Given the description of an element on the screen output the (x, y) to click on. 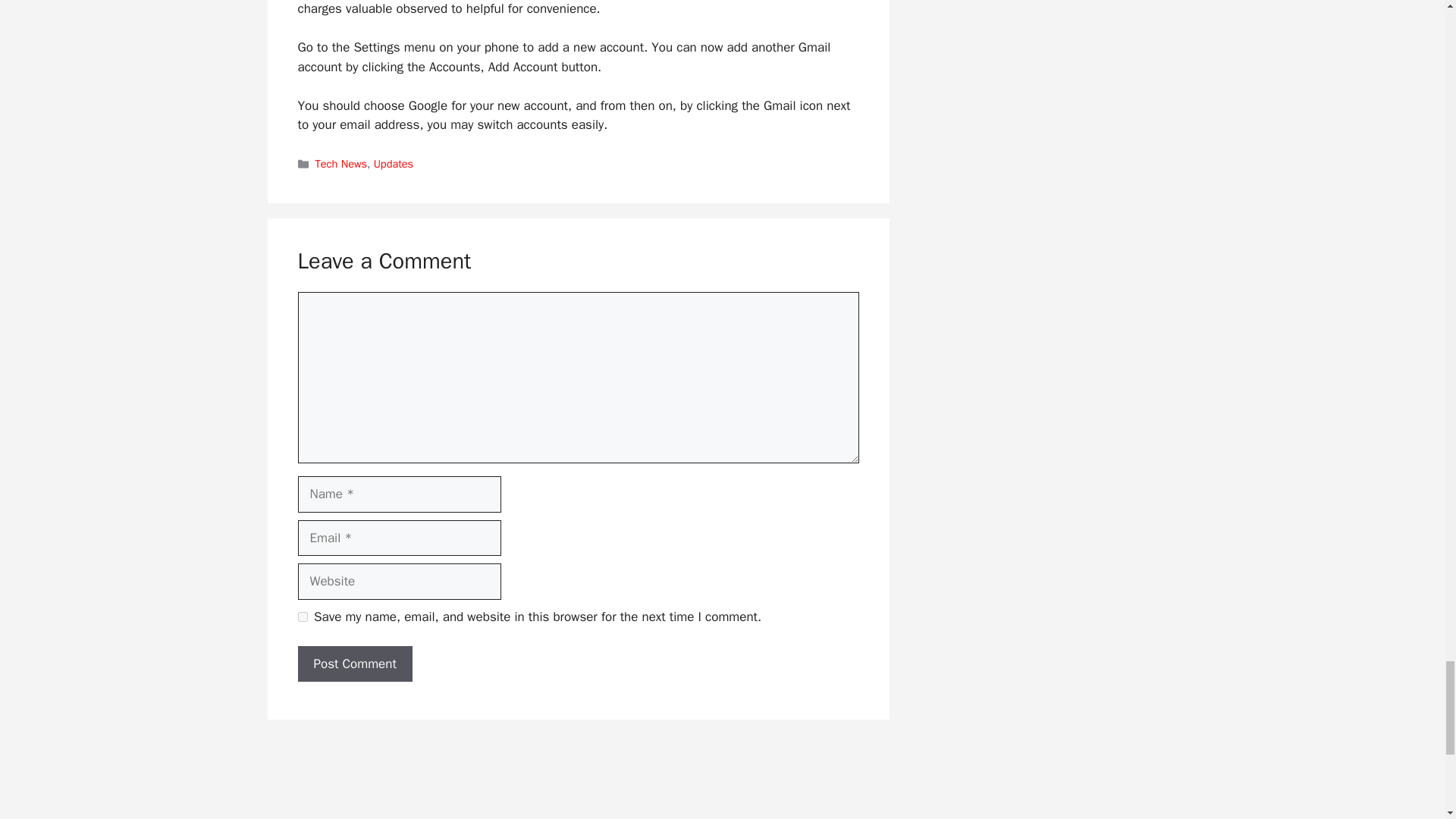
Tech News (340, 163)
Post Comment (354, 664)
Post Comment (354, 664)
Updates (393, 163)
yes (302, 616)
